Given the description of an element on the screen output the (x, y) to click on. 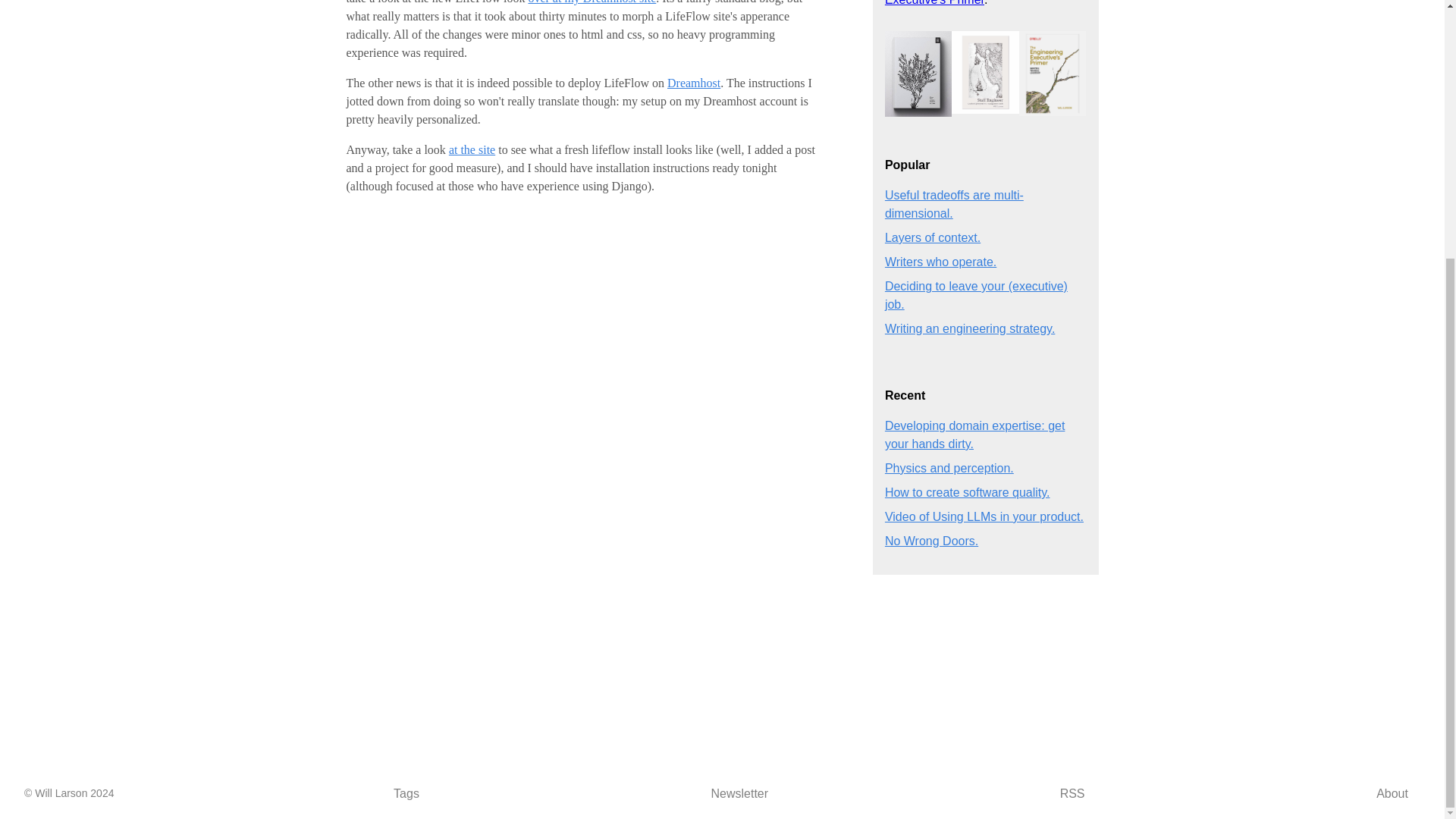
Useful tradeoffs are multi-dimensional. (954, 204)
over at my Dreamhost site (591, 2)
Newsletter (738, 793)
Deployed LifeFlow Example (471, 149)
RSS (1072, 793)
Video of Using LLMs in your product. (984, 516)
The Engineering Executive's Primer (968, 2)
Writers who operate. (940, 261)
Deployed LifeFlow Example (591, 2)
at the site (471, 149)
Writing an engineering strategy. (969, 328)
Dreamhost (693, 82)
Physics and perception. (949, 468)
Developing domain expertise: get your hands dirty. (974, 434)
About (1392, 793)
